Given the description of an element on the screen output the (x, y) to click on. 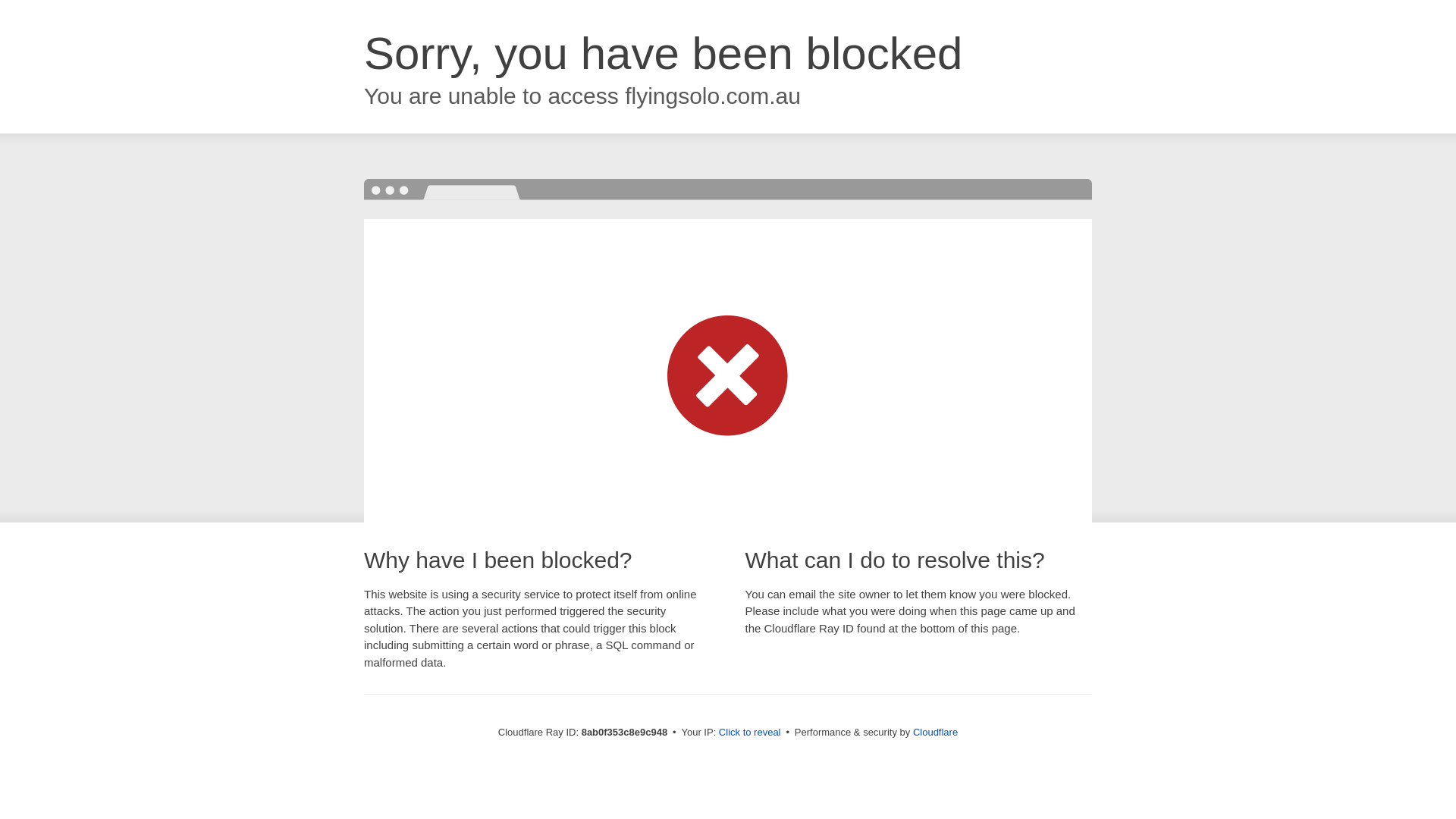
Cloudflare (935, 731)
Click to reveal (749, 732)
